Given the description of an element on the screen output the (x, y) to click on. 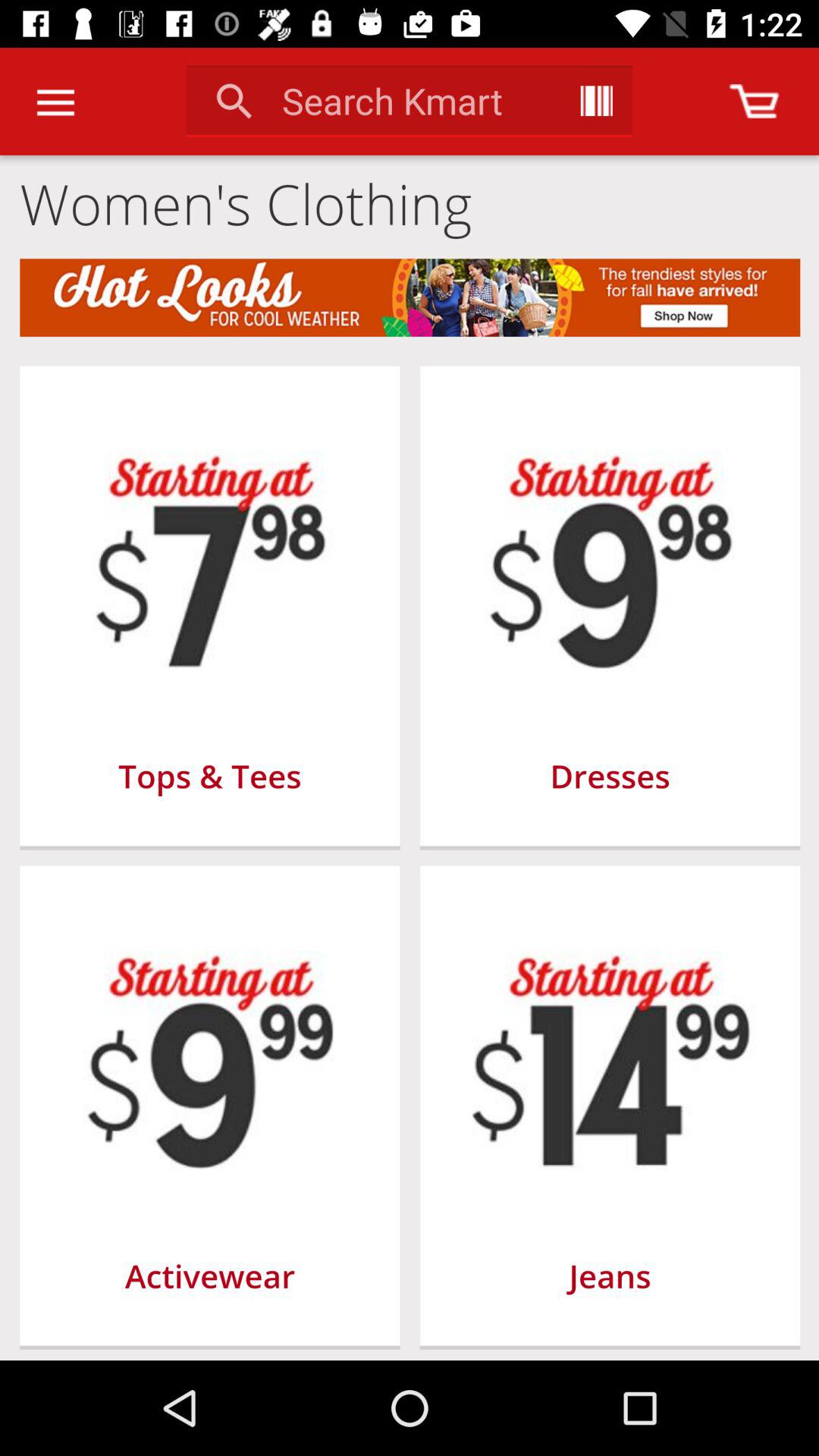
go to cart (754, 101)
